Given the description of an element on the screen output the (x, y) to click on. 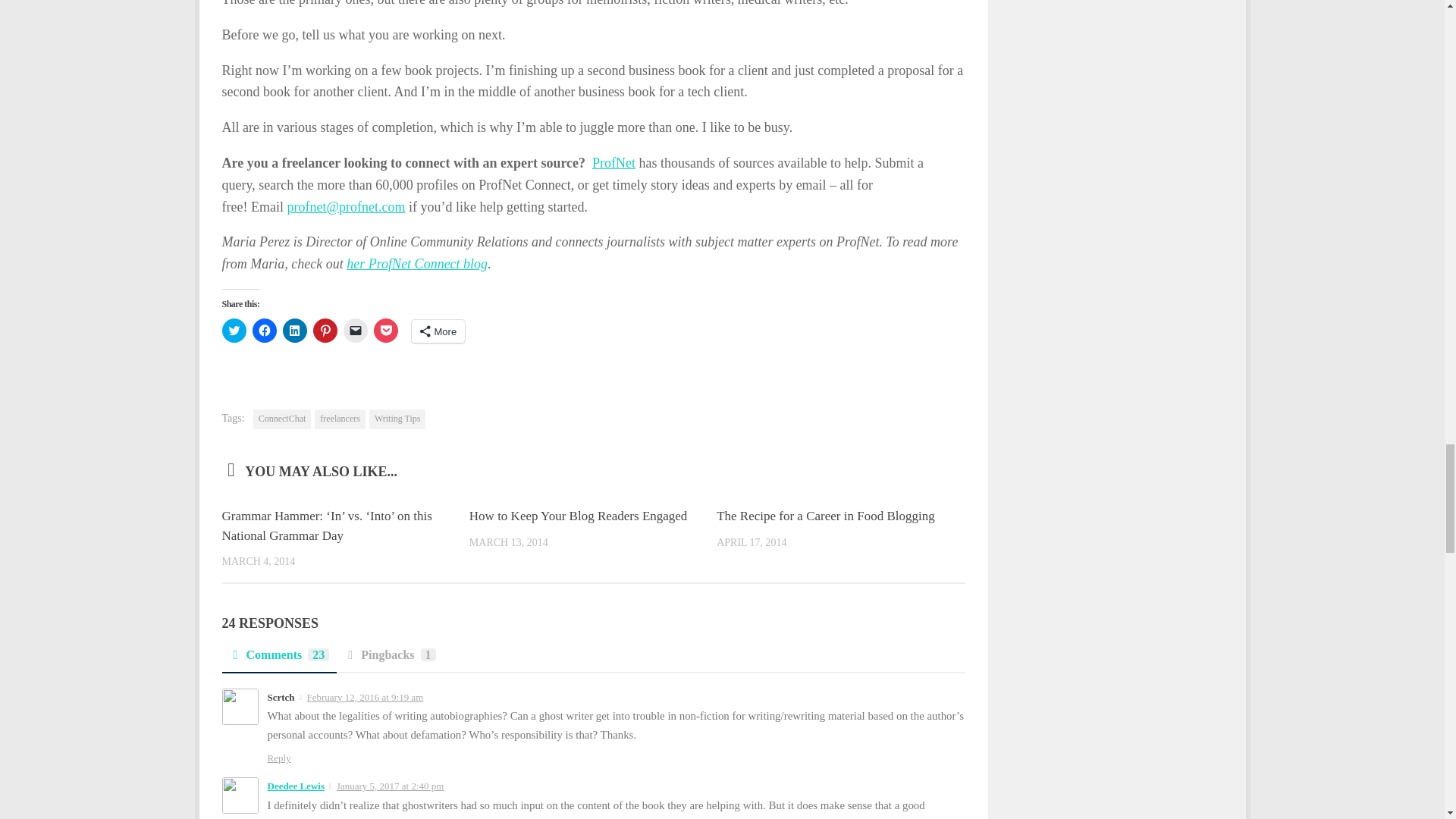
Click to share on LinkedIn (293, 330)
Click to share on Twitter (233, 330)
Click to email a link to a friend (354, 330)
Click to share on Pinterest (324, 330)
Click to share on Facebook (263, 330)
Click to share on Pocket (384, 330)
